Given the description of an element on the screen output the (x, y) to click on. 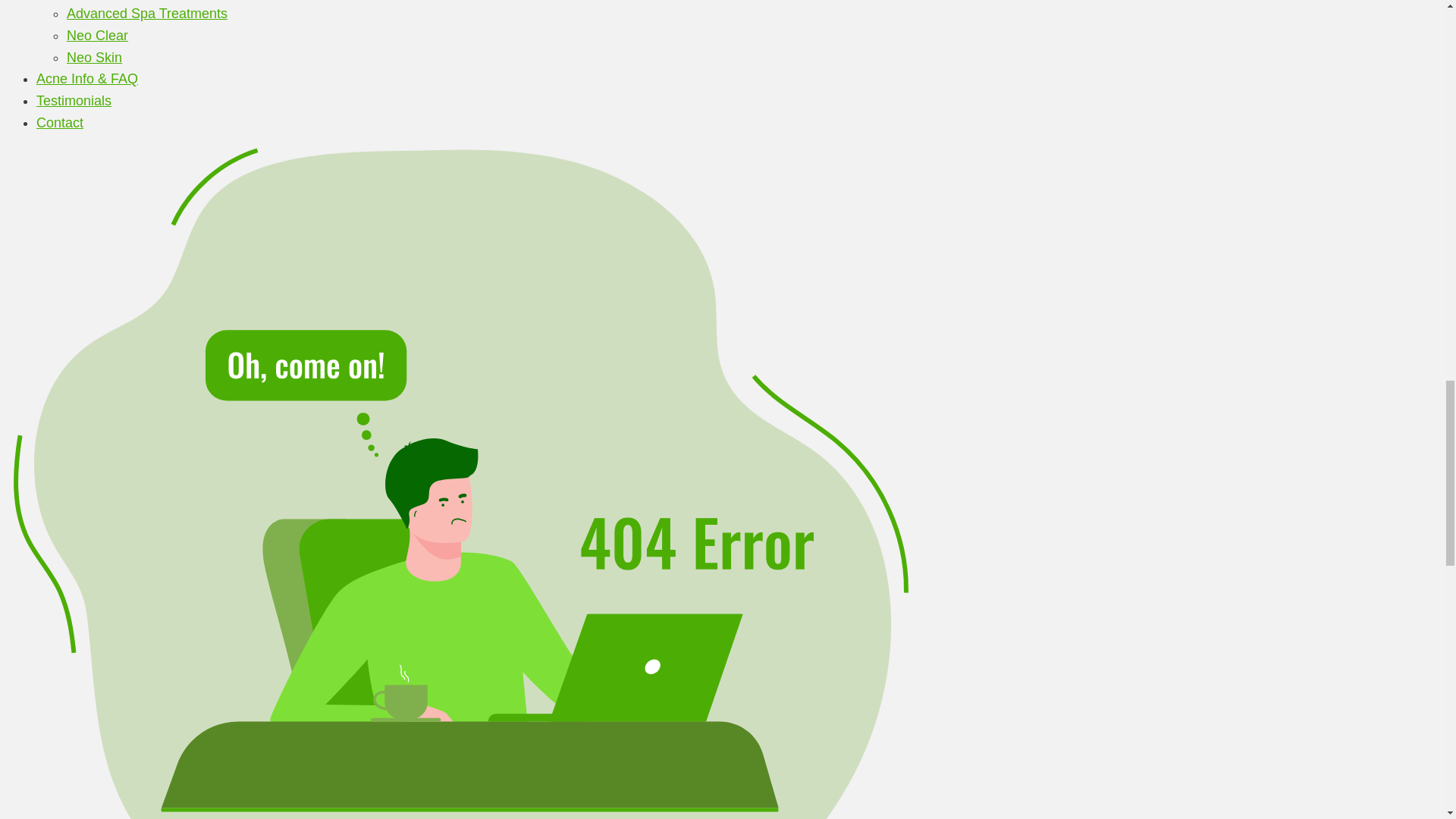
Advanced Spa Treatments (146, 13)
Neo Clear (97, 35)
Neo Skin (94, 57)
Testimonials (74, 100)
Contact (59, 122)
